Given the description of an element on the screen output the (x, y) to click on. 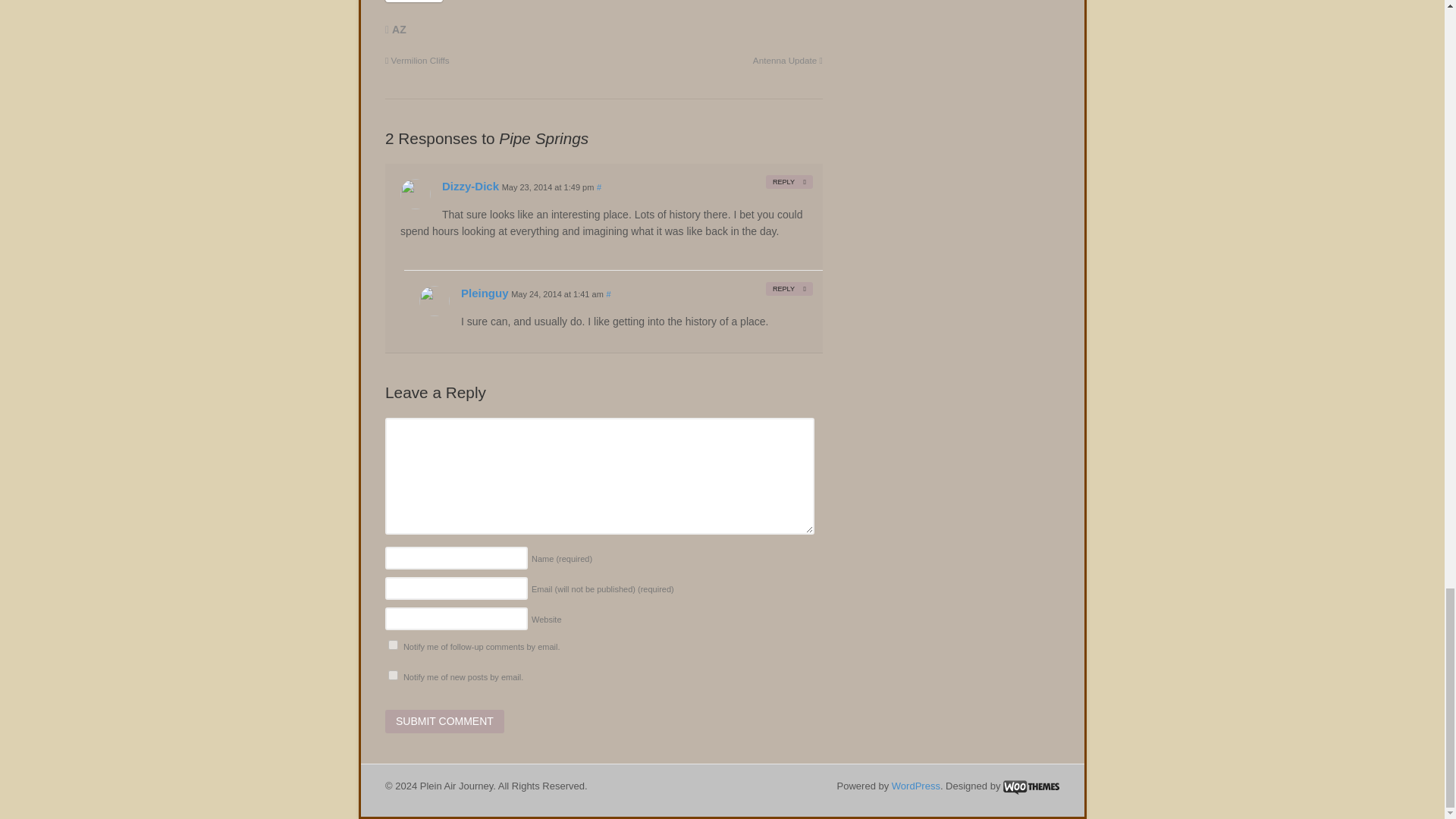
subscribe (392, 675)
Submit Comment (444, 721)
subscribe (392, 644)
